Given the description of an element on the screen output the (x, y) to click on. 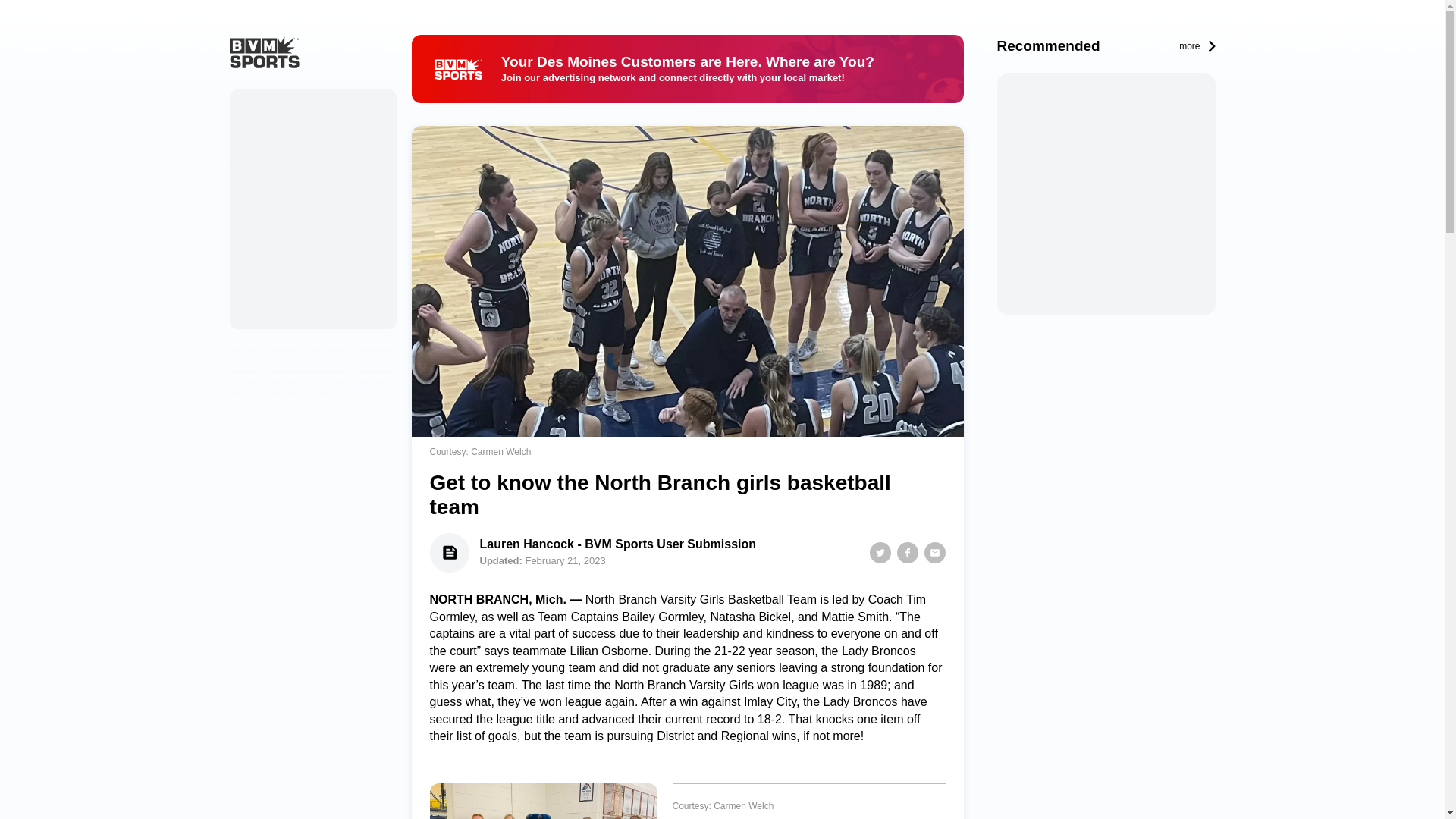
Account (249, 255)
Favorites (252, 225)
Share via email (933, 552)
More Sports (259, 195)
Share on Facebook (906, 552)
Share on Twitter (879, 552)
Watch (244, 164)
Originals (251, 134)
Home (252, 104)
